Given the description of an element on the screen output the (x, y) to click on. 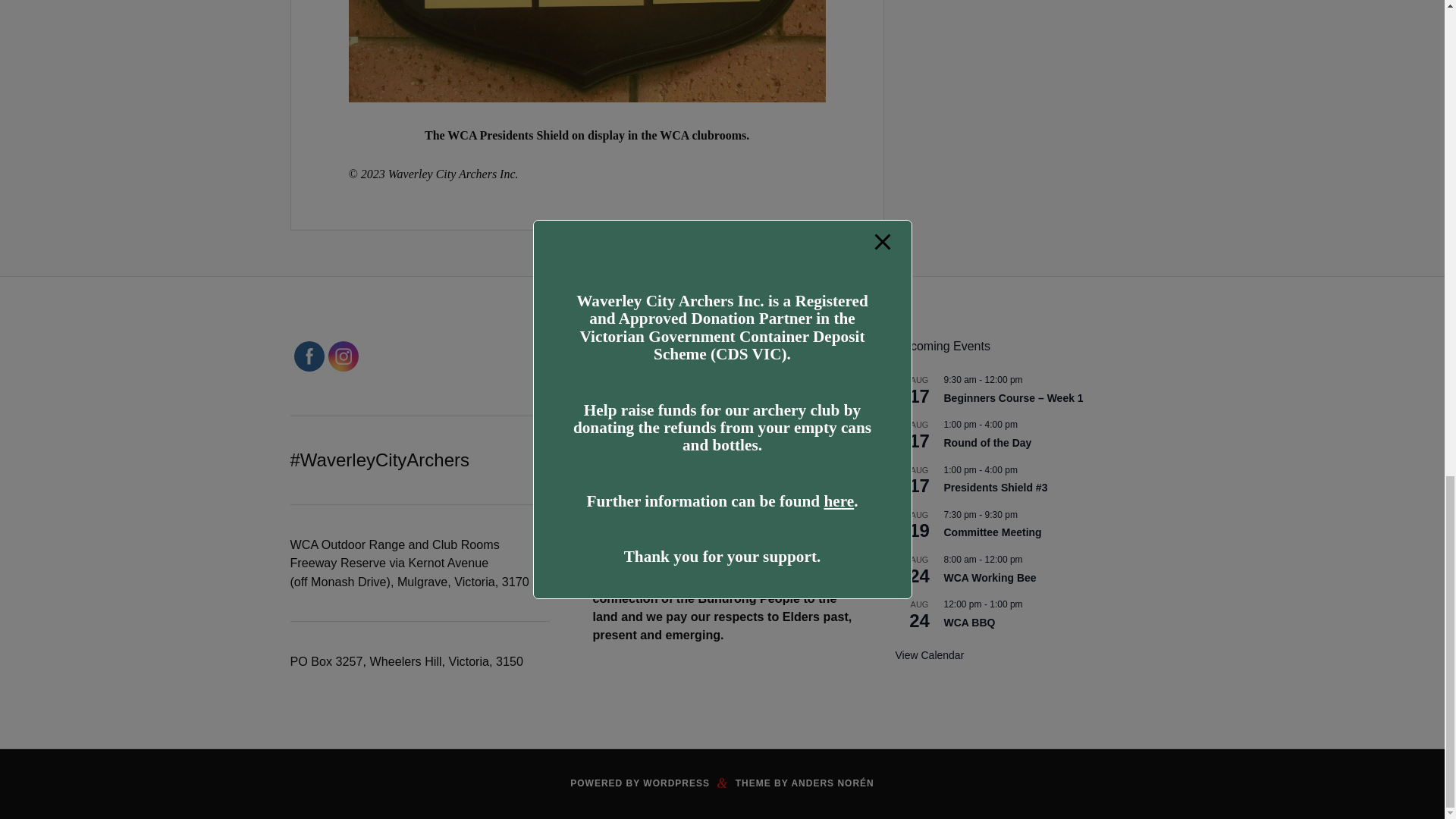
WCA Working Bee (989, 577)
Committee Meeting (992, 532)
Facebook (308, 356)
Instagram (343, 356)
WCA BBQ (968, 622)
Round of the Day (986, 442)
View more events. (929, 655)
